Given the description of an element on the screen output the (x, y) to click on. 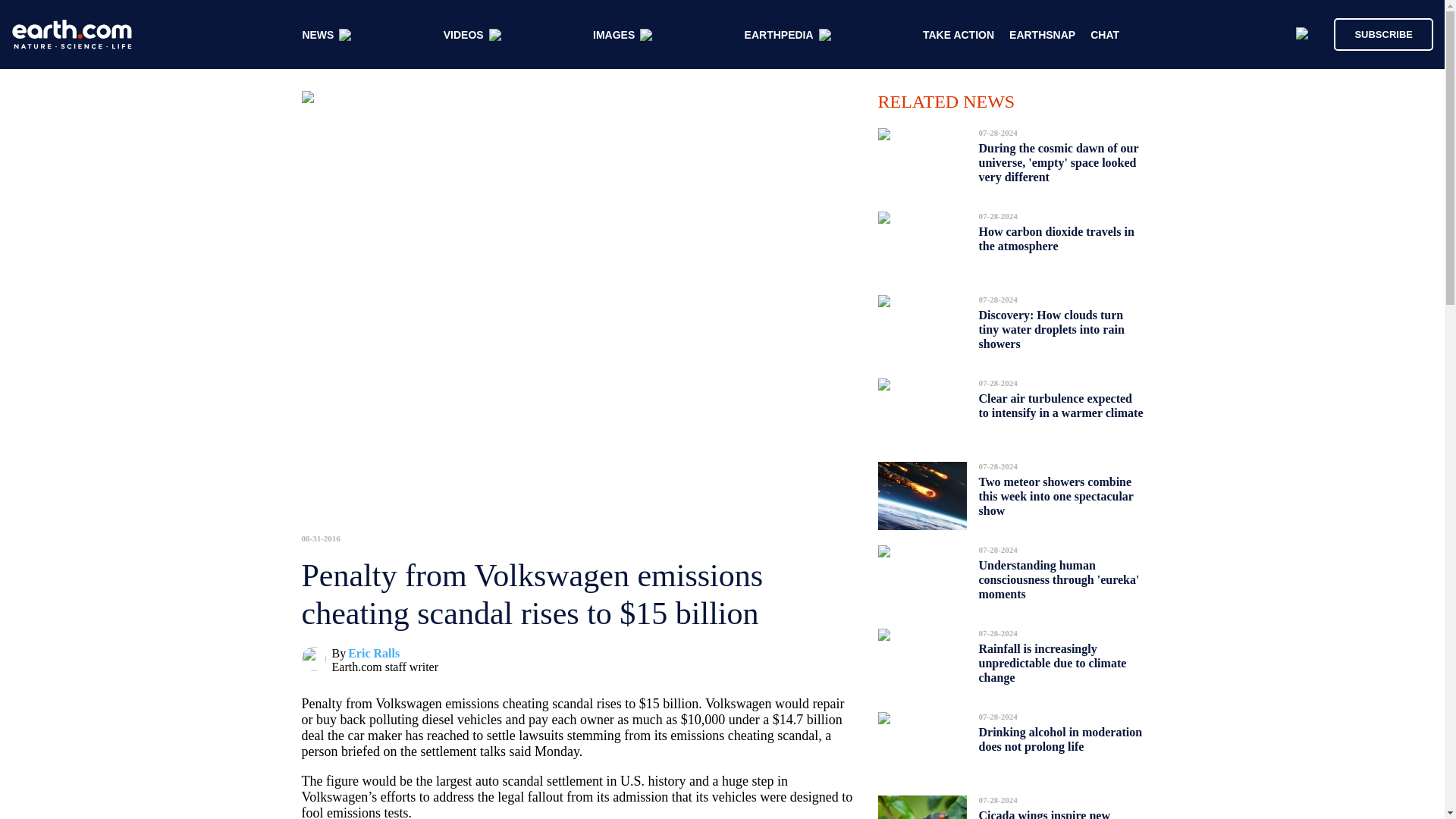
Drinking alcohol in moderation does not prolong life (1059, 739)
SUBSCRIBE (1375, 33)
SUBSCRIBE (1382, 34)
How carbon dioxide travels in the atmosphere (1056, 238)
TAKE ACTION (958, 34)
EARTHSNAP (1042, 34)
CHAT (1104, 34)
Eric Ralls (372, 653)
Understanding human consciousness through 'eureka' moments (1058, 579)
Cicada wings inspire new antibacterial technologies (1044, 810)
Rainfall is increasingly unpredictable due to climate change (1051, 662)
